Given the description of an element on the screen output the (x, y) to click on. 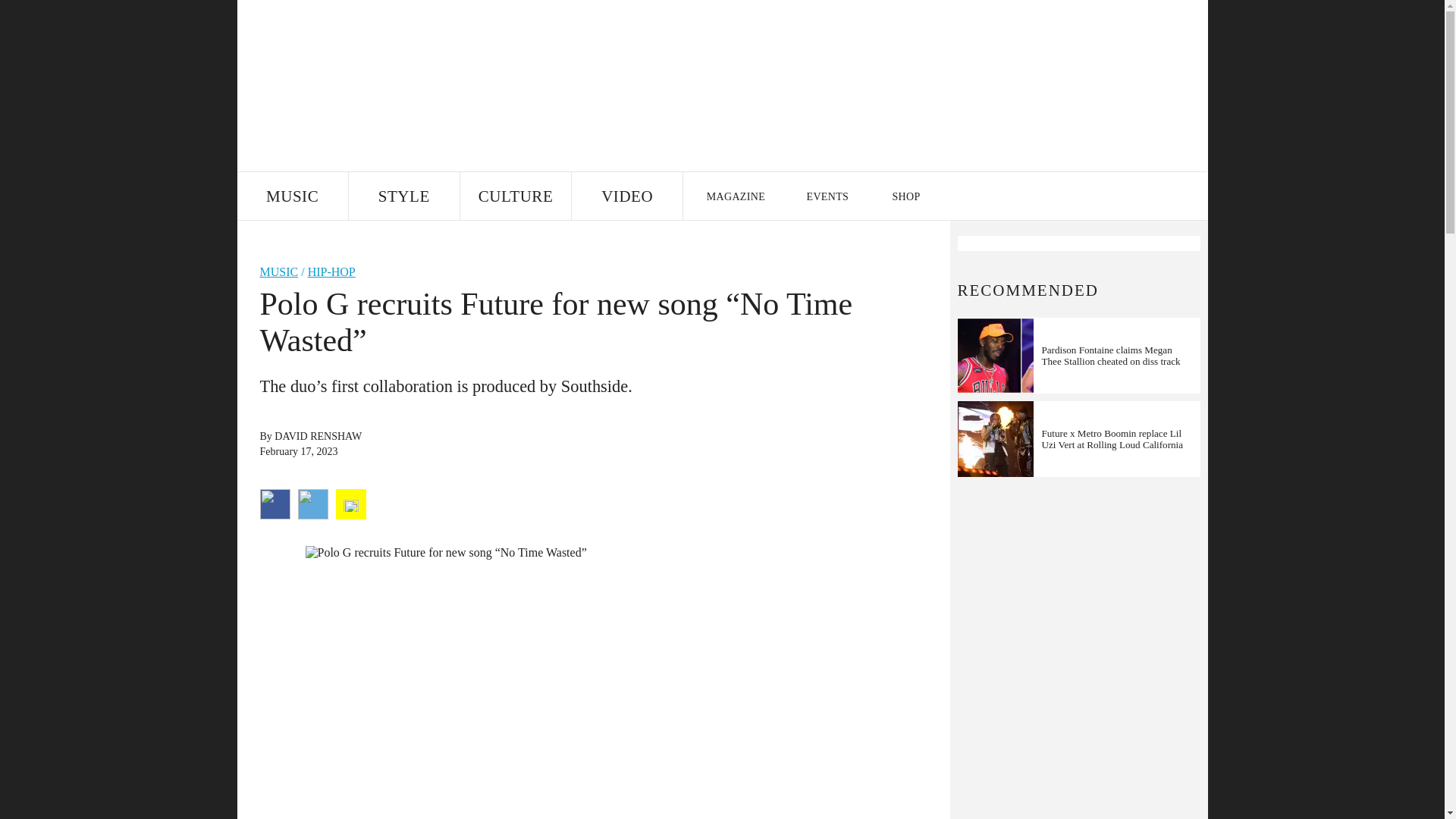
SHOP (905, 196)
CULTURE (515, 196)
MAGAZINE (734, 196)
VIDEO (627, 196)
EVENTS (828, 196)
STYLE (404, 196)
MUSIC (291, 196)
